Given the description of an element on the screen output the (x, y) to click on. 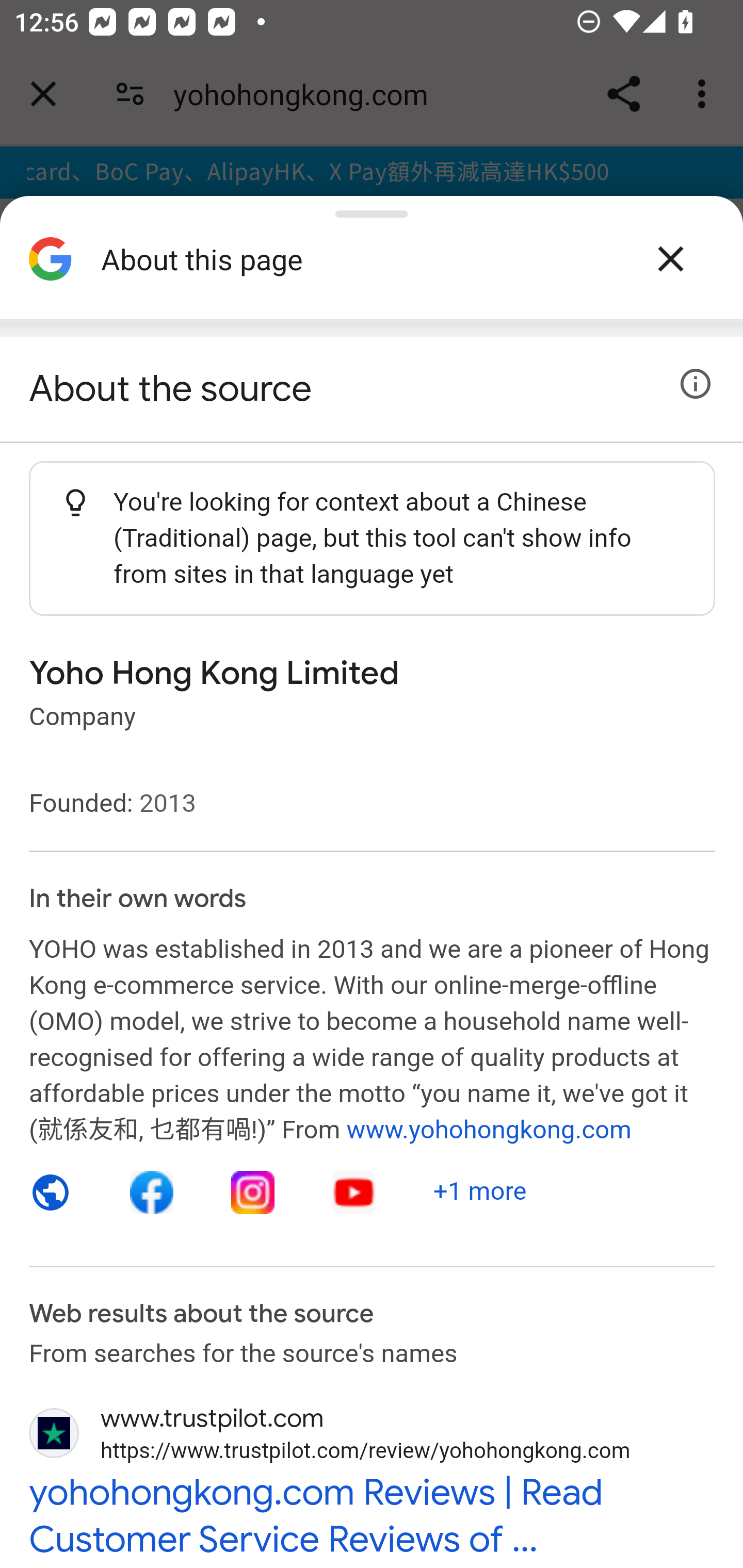
About this page Close (371, 266)
Close (670, 259)
Support about the source (695, 384)
www.yohohongkong.com (488, 1130)
Official site, Yoho Hong Kong Limited (51, 1192)
facebook.com, 友和 YOHO (152, 1192)
instagram.com, 友和 YOHO | 香港 #1 O2O 電器及電子產品網店 (252, 1192)
youtube.com, 友和 YOHO (354, 1192)
+1 more (480, 1191)
